Given the description of an element on the screen output the (x, y) to click on. 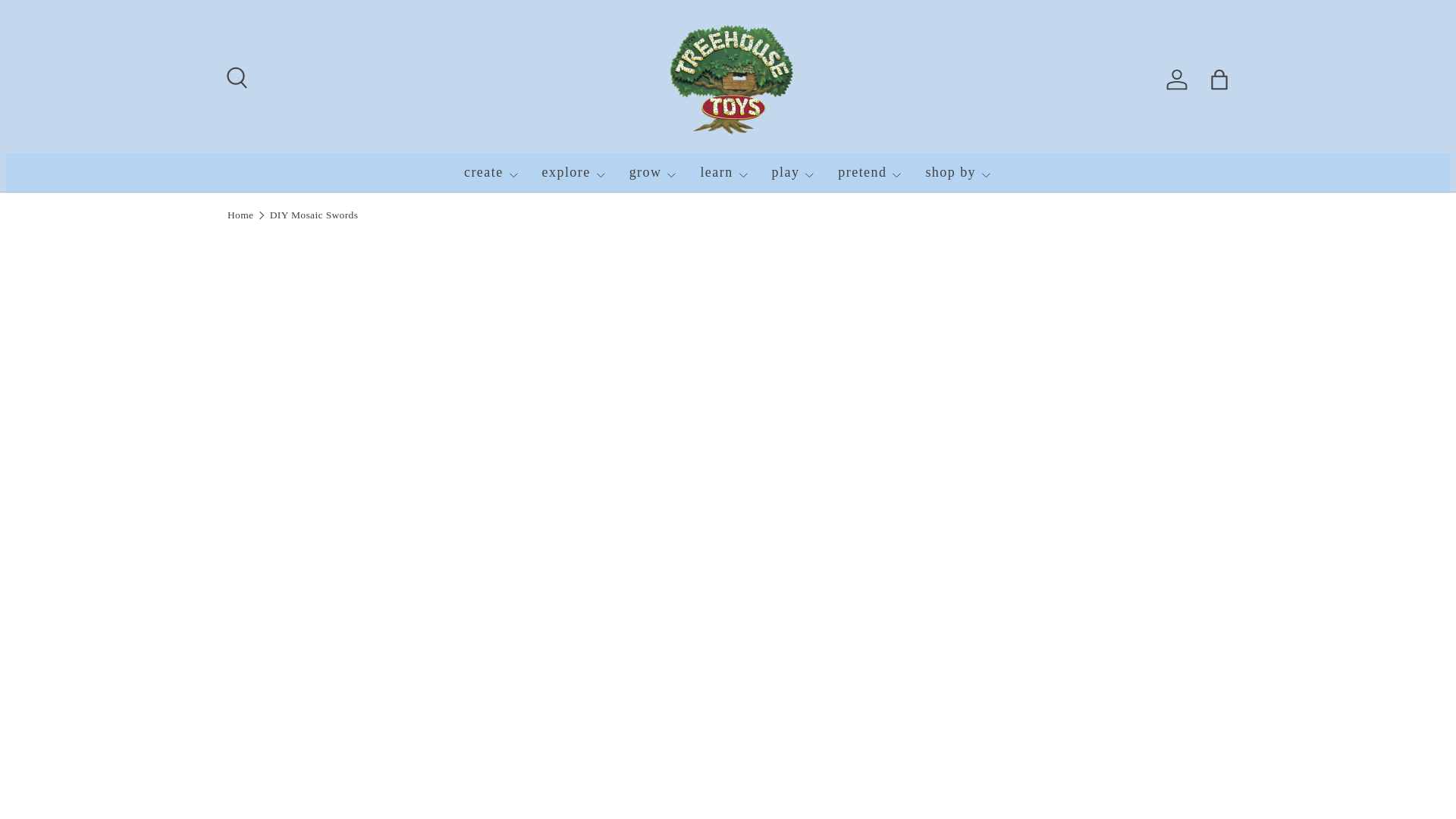
Bag (1219, 79)
Skip to content (64, 21)
create (491, 172)
Search (234, 75)
Log in (1176, 79)
